Given the description of an element on the screen output the (x, y) to click on. 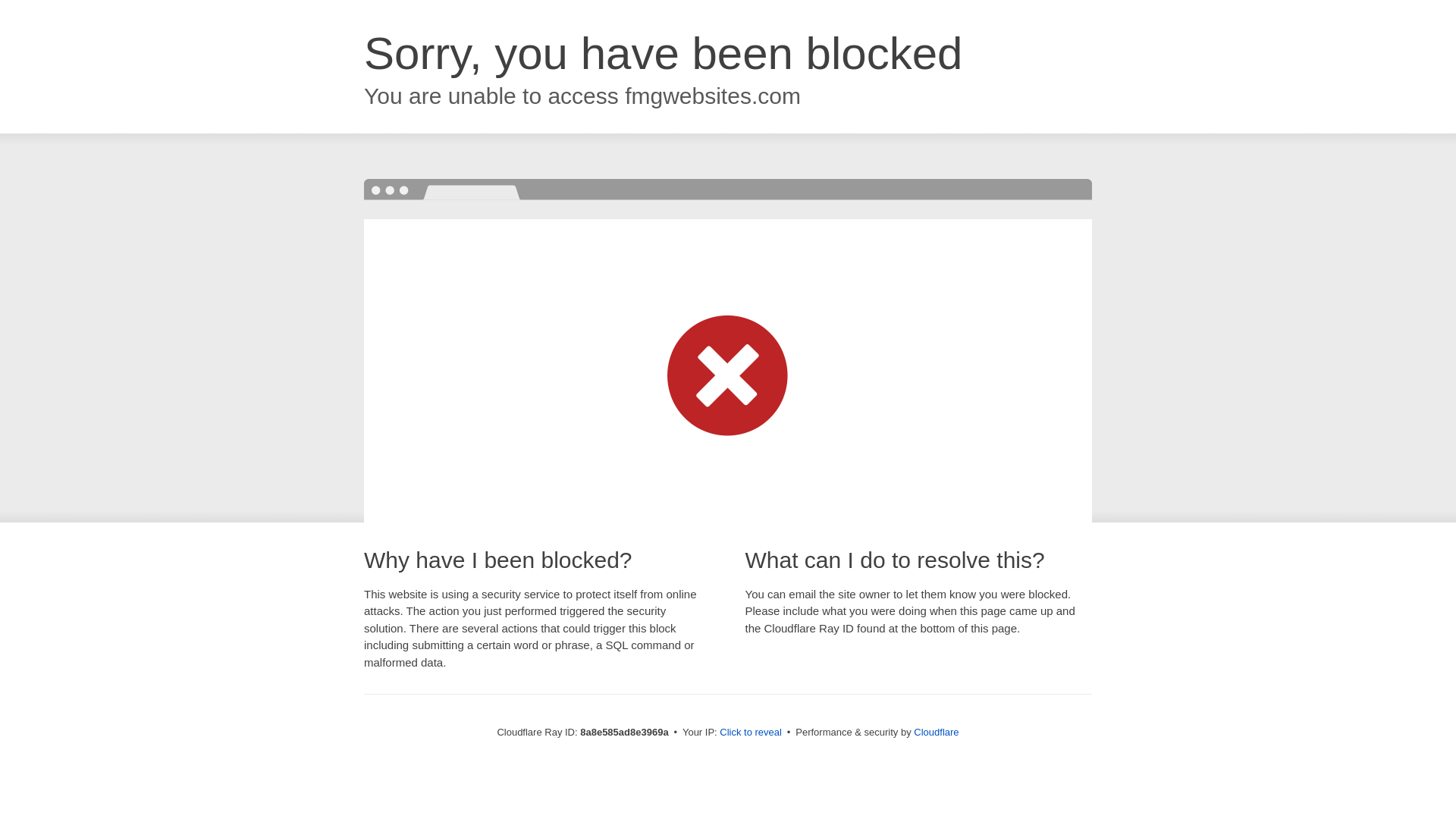
Click to reveal (750, 732)
Cloudflare (936, 731)
